Given the description of an element on the screen output the (x, y) to click on. 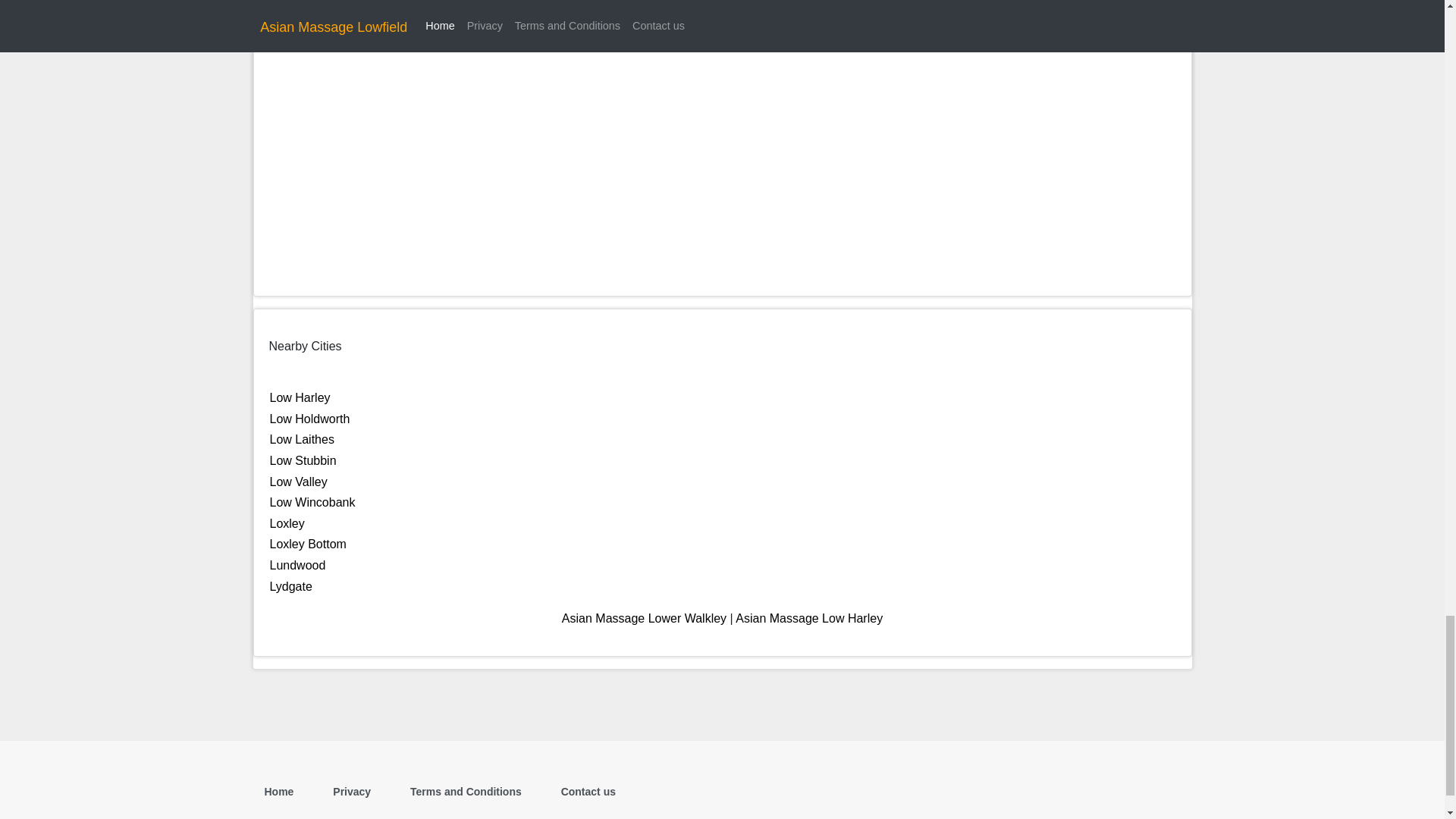
Low Holdworth (309, 418)
Low Wincobank (312, 502)
Asian Massage Lower Walkley (644, 617)
Low Harley (299, 397)
Loxley Bottom (307, 543)
Low Valley (298, 481)
Loxley (286, 522)
Asian Massage Low Harley (808, 617)
Low Laithes (301, 439)
Lydgate (291, 585)
